Given the description of an element on the screen output the (x, y) to click on. 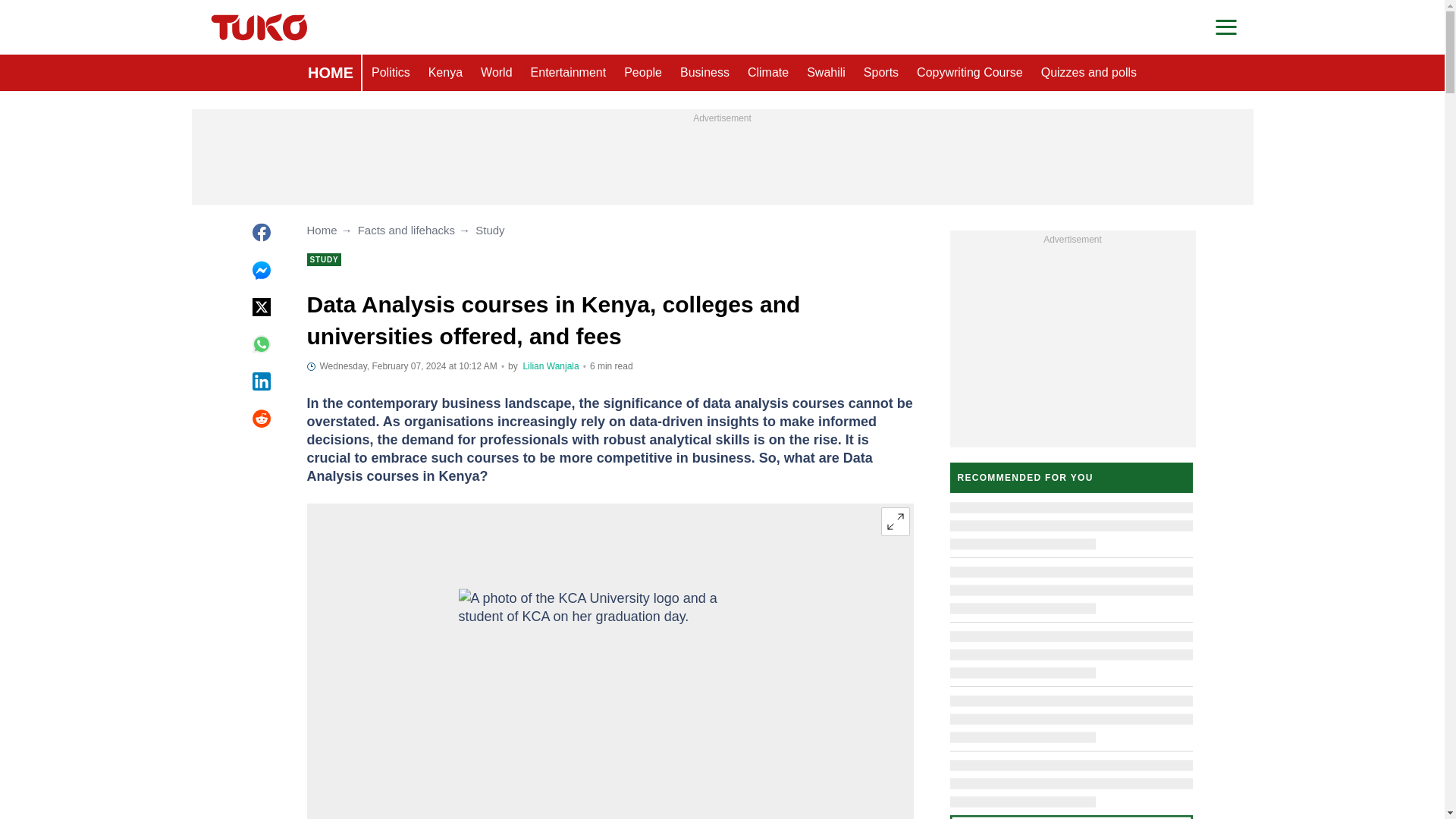
Expand image (895, 521)
Entertainment (568, 72)
Sports (880, 72)
People (642, 72)
Author page (550, 366)
Quizzes and polls (1088, 72)
Swahili (825, 72)
Business (704, 72)
Climate (767, 72)
Politics (390, 72)
HOME (330, 72)
World (496, 72)
Kenya (445, 72)
Copywriting Course (969, 72)
